Given the description of an element on the screen output the (x, y) to click on. 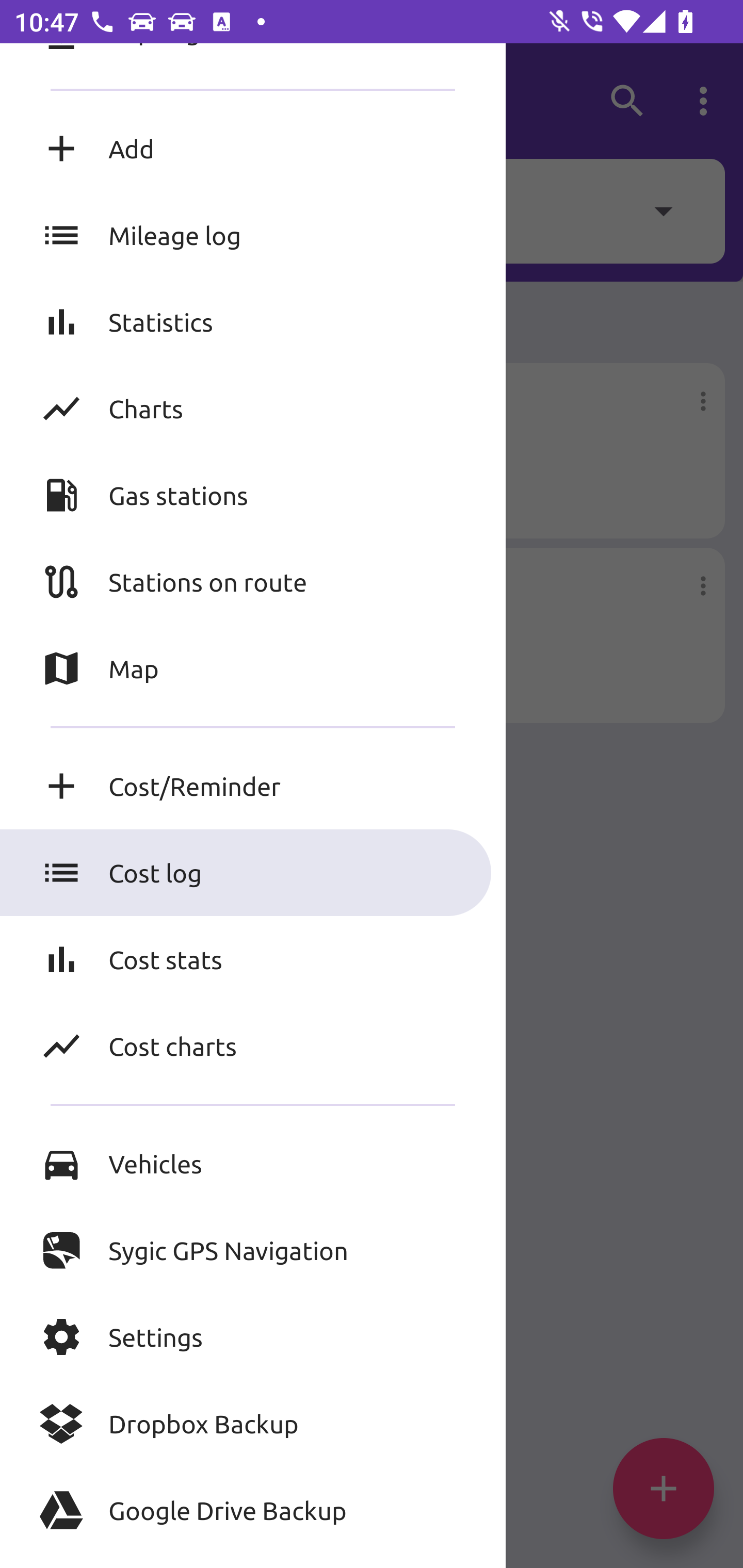
Add (252, 148)
Mileage log (252, 235)
Statistics (252, 322)
Charts (252, 408)
Gas stations (252, 494)
Stations on route (252, 581)
Map (252, 668)
Cost/Reminder (252, 786)
Cost log (252, 872)
Cost stats (252, 958)
Cost charts (252, 1045)
Vehicles (252, 1163)
Sygic GPS Navigation (252, 1250)
Settings (252, 1336)
Dropbox Backup (252, 1423)
Google Drive Backup (252, 1510)
